Given the description of an element on the screen output the (x, y) to click on. 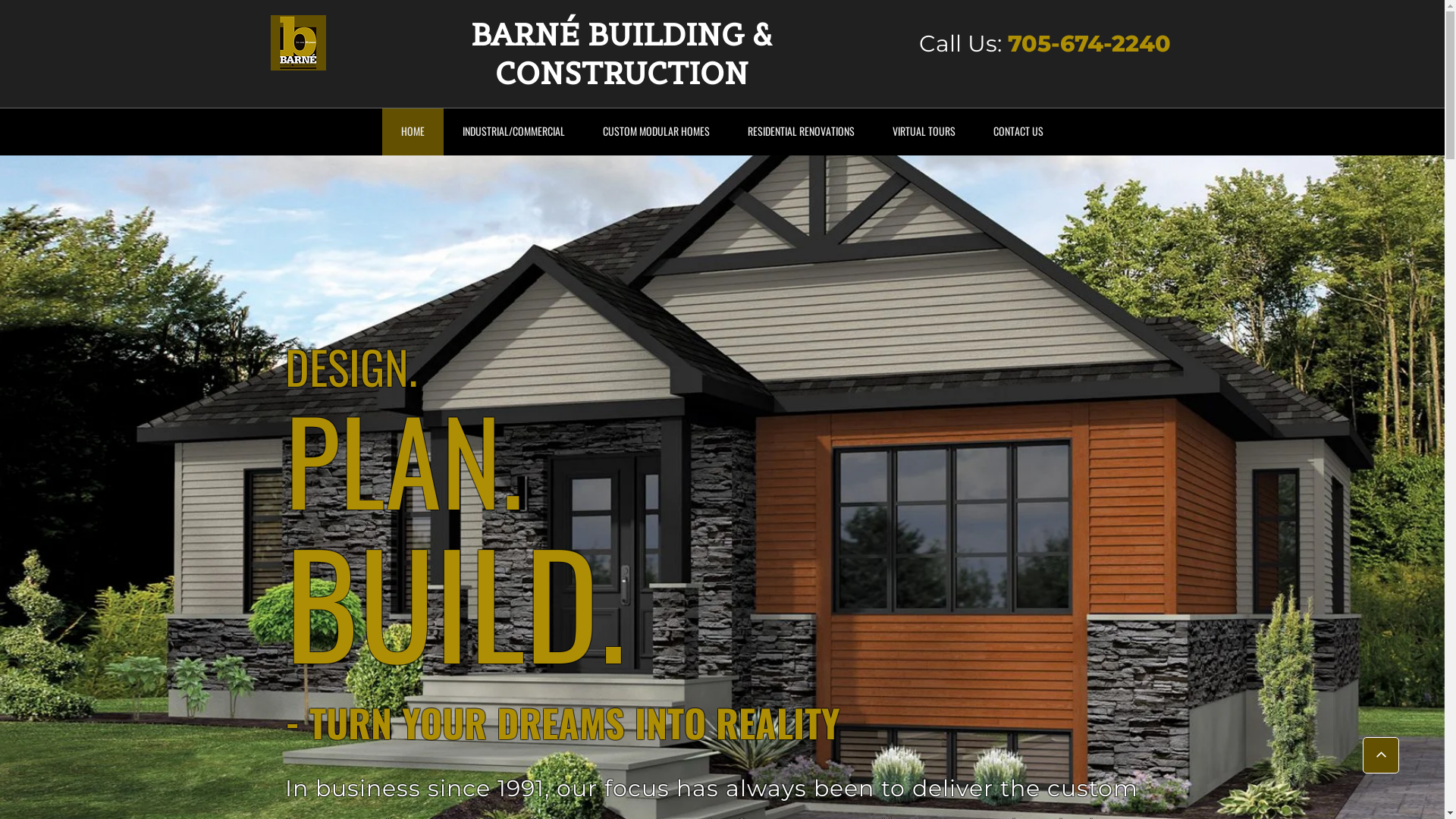
RESIDENTIAL RENOVATIONS Element type: text (800, 131)
VIRTUAL TOURS Element type: text (923, 131)
705-674-2240 Element type: text (1088, 43)
INDUSTRIAL/COMMERCIAL Element type: text (512, 131)
CUSTOM MODULAR HOMES Element type: text (655, 131)
HOME Element type: text (412, 131)
CONTACT US Element type: text (1017, 131)
